Given the description of an element on the screen output the (x, y) to click on. 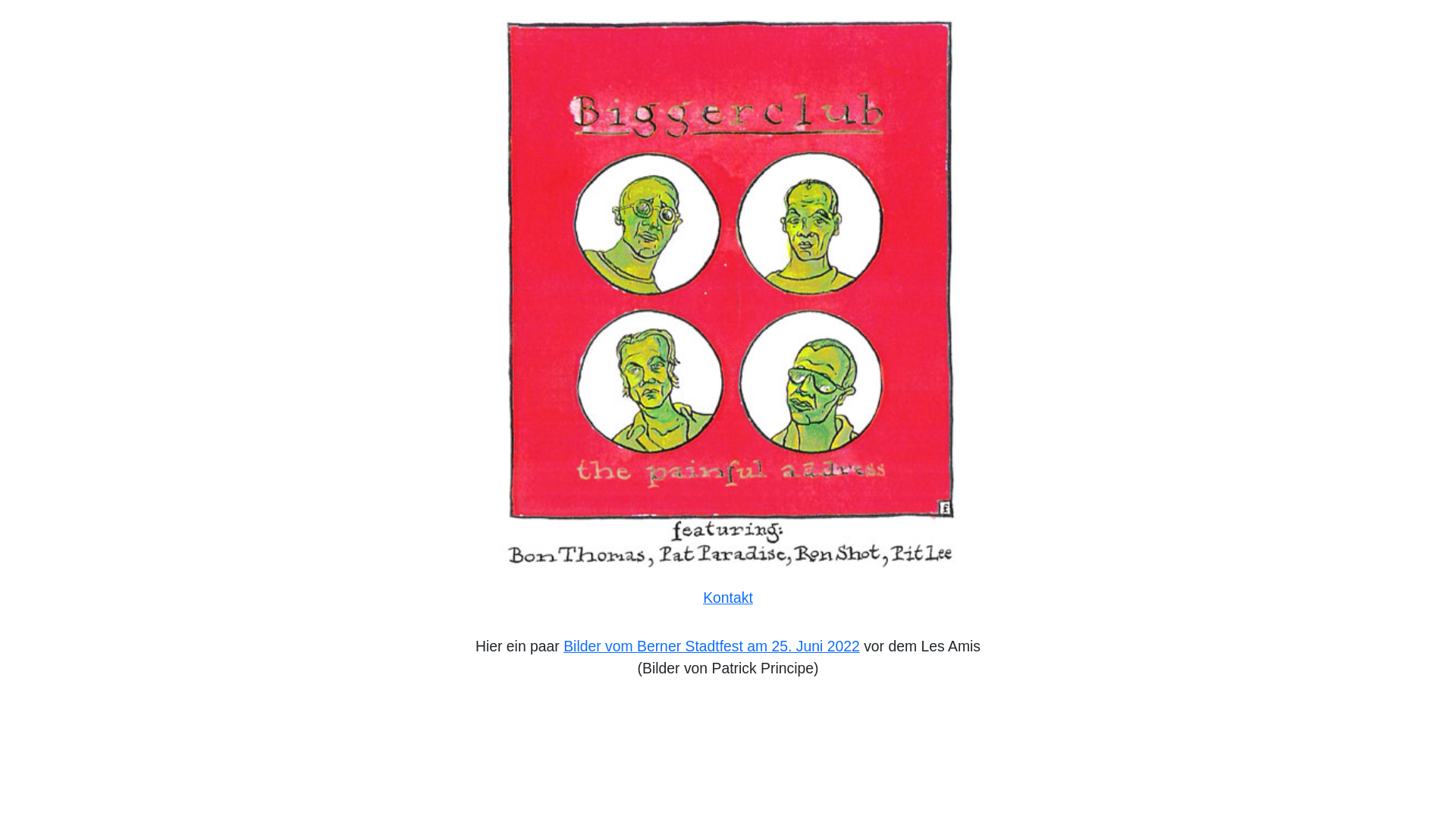
Kontakt Element type: text (727, 597)
Bilder vom Berner Stadtfest am 25. Juni 2022 Element type: text (711, 645)
